Given the description of an element on the screen output the (x, y) to click on. 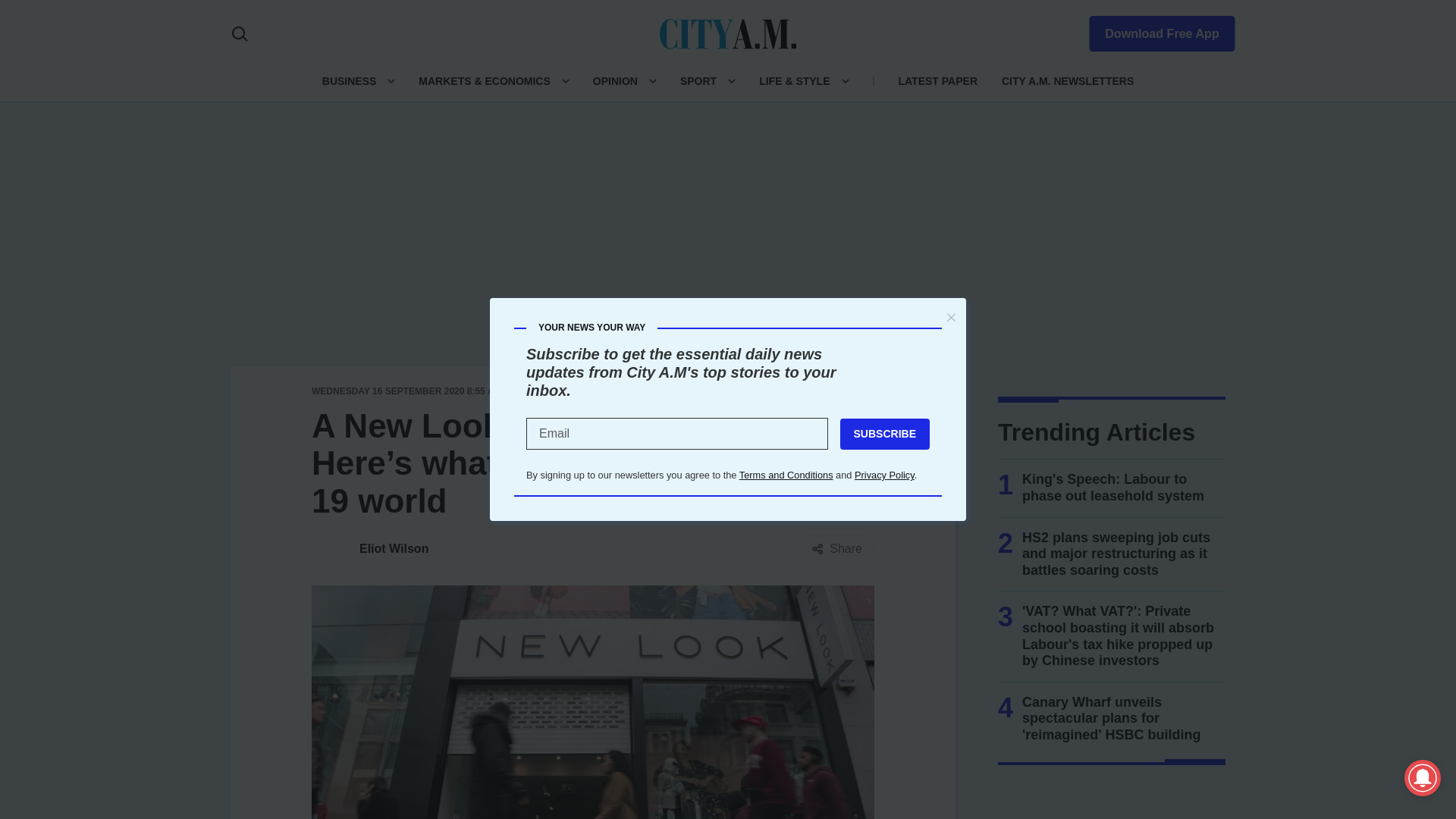
CityAM (727, 33)
Download Free App (1152, 30)
BUSINESS (349, 80)
